Given the description of an element on the screen output the (x, y) to click on. 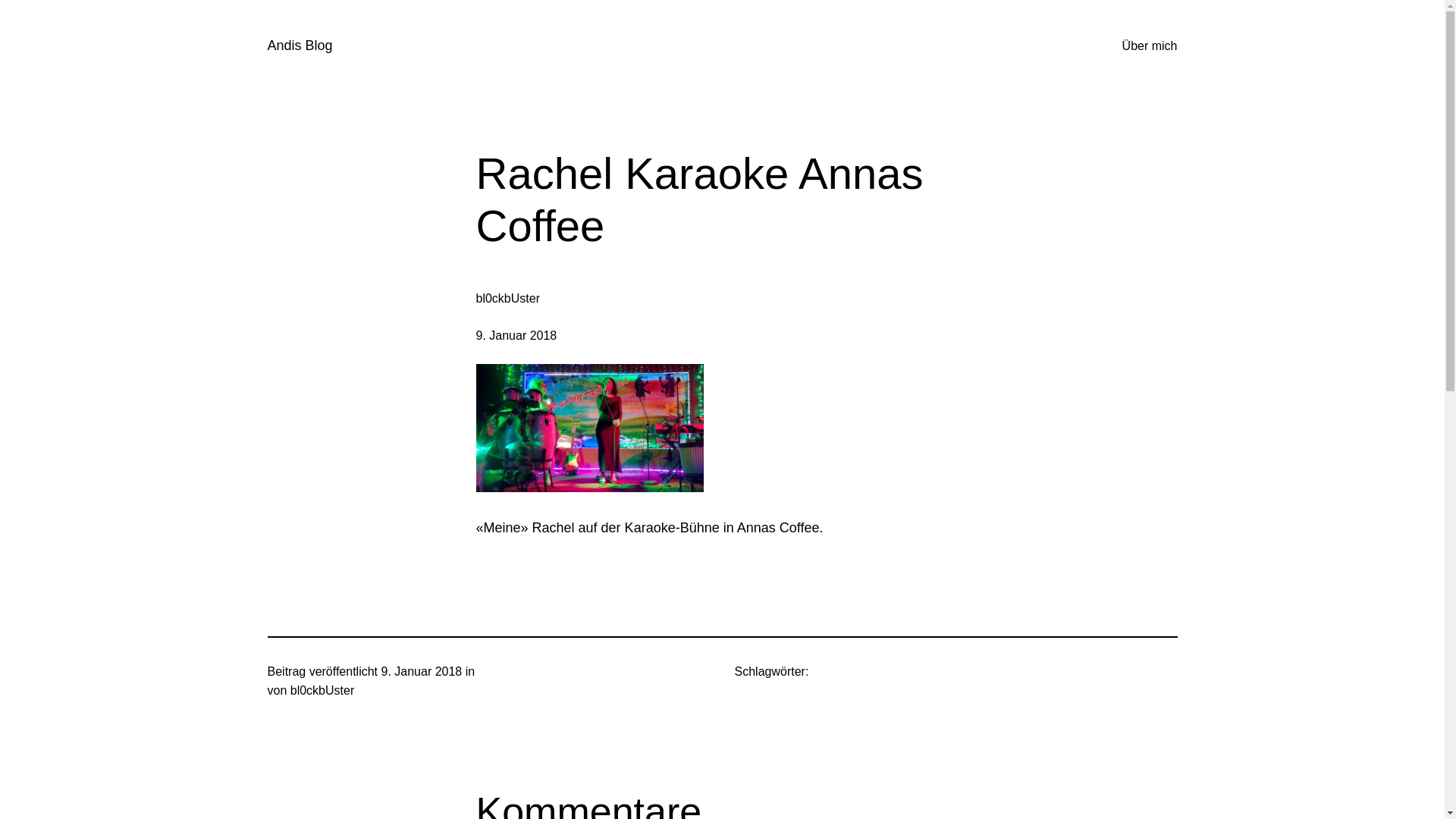
Andis Blog Element type: text (299, 45)
